Given the description of an element on the screen output the (x, y) to click on. 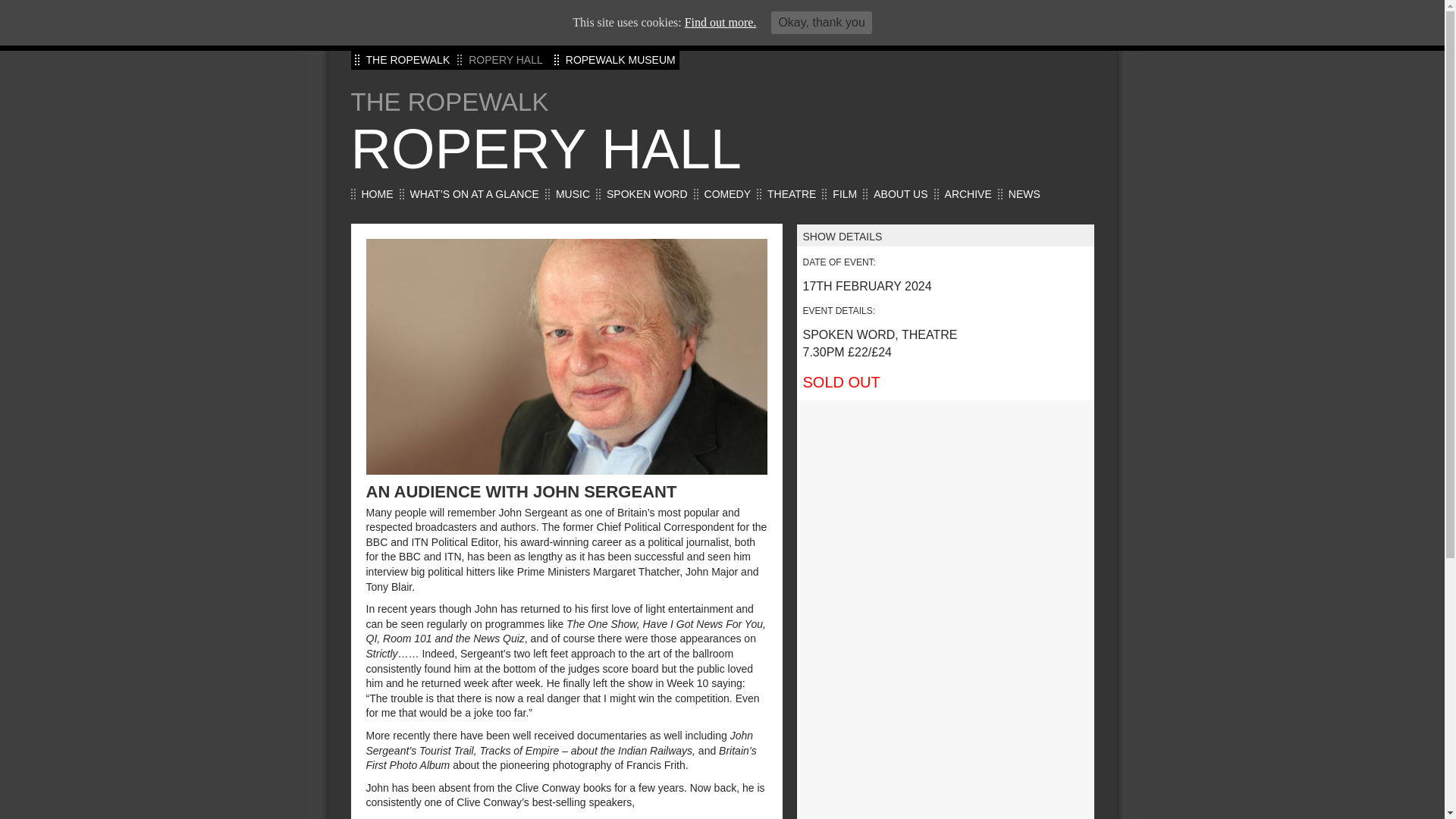
HOME (377, 193)
THEATRE (791, 193)
SPOKEN WORD (647, 193)
ROPEWALK MUSEUM (620, 60)
THE ROPEWALK (407, 60)
NEWS (1025, 193)
ROPERY HALL (721, 148)
Find out more. (720, 21)
Ropery Hall (721, 148)
ABOUT US (900, 193)
